Given the description of an element on the screen output the (x, y) to click on. 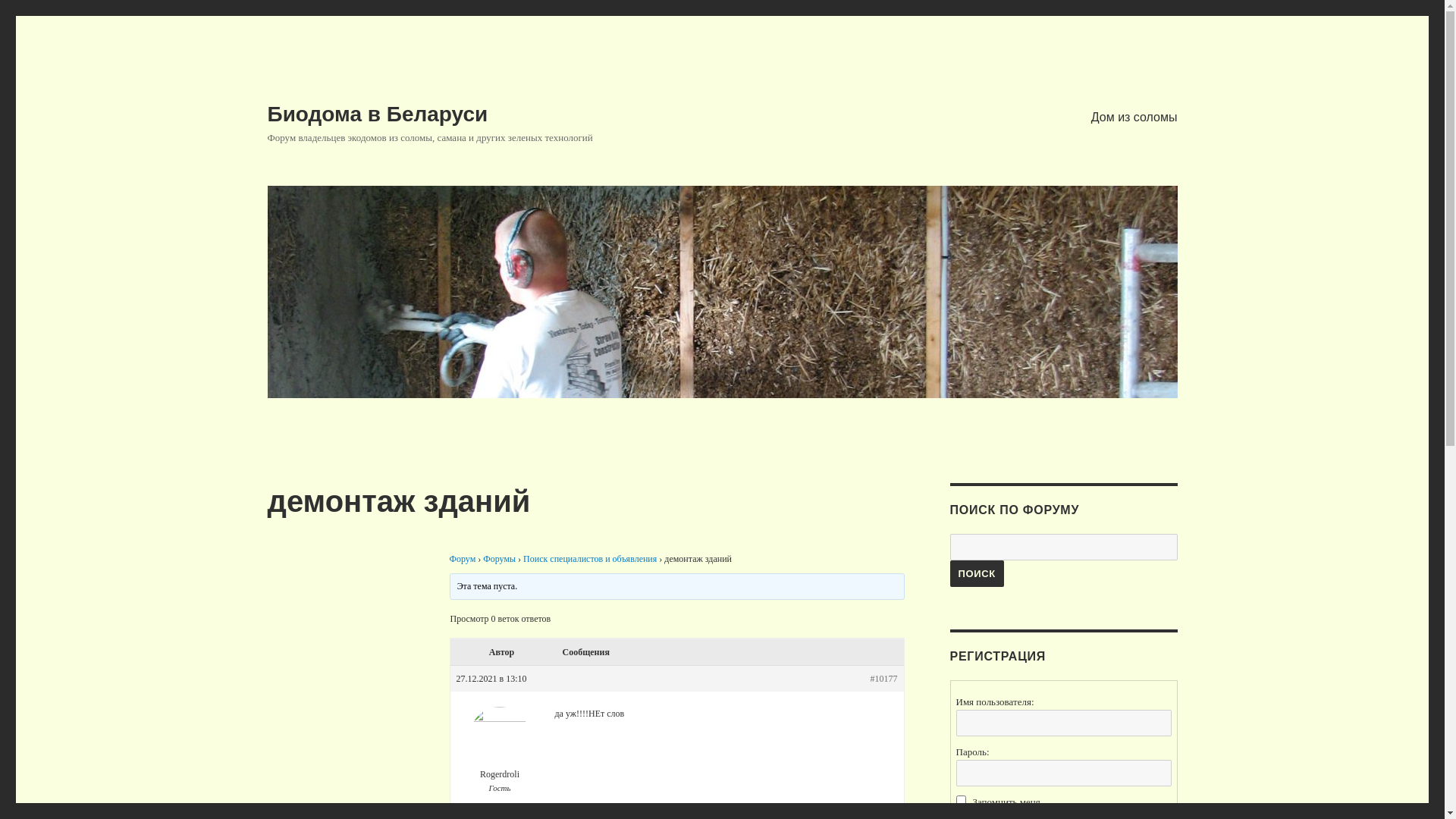
#10177 Element type: text (883, 678)
